Given the description of an element on the screen output the (x, y) to click on. 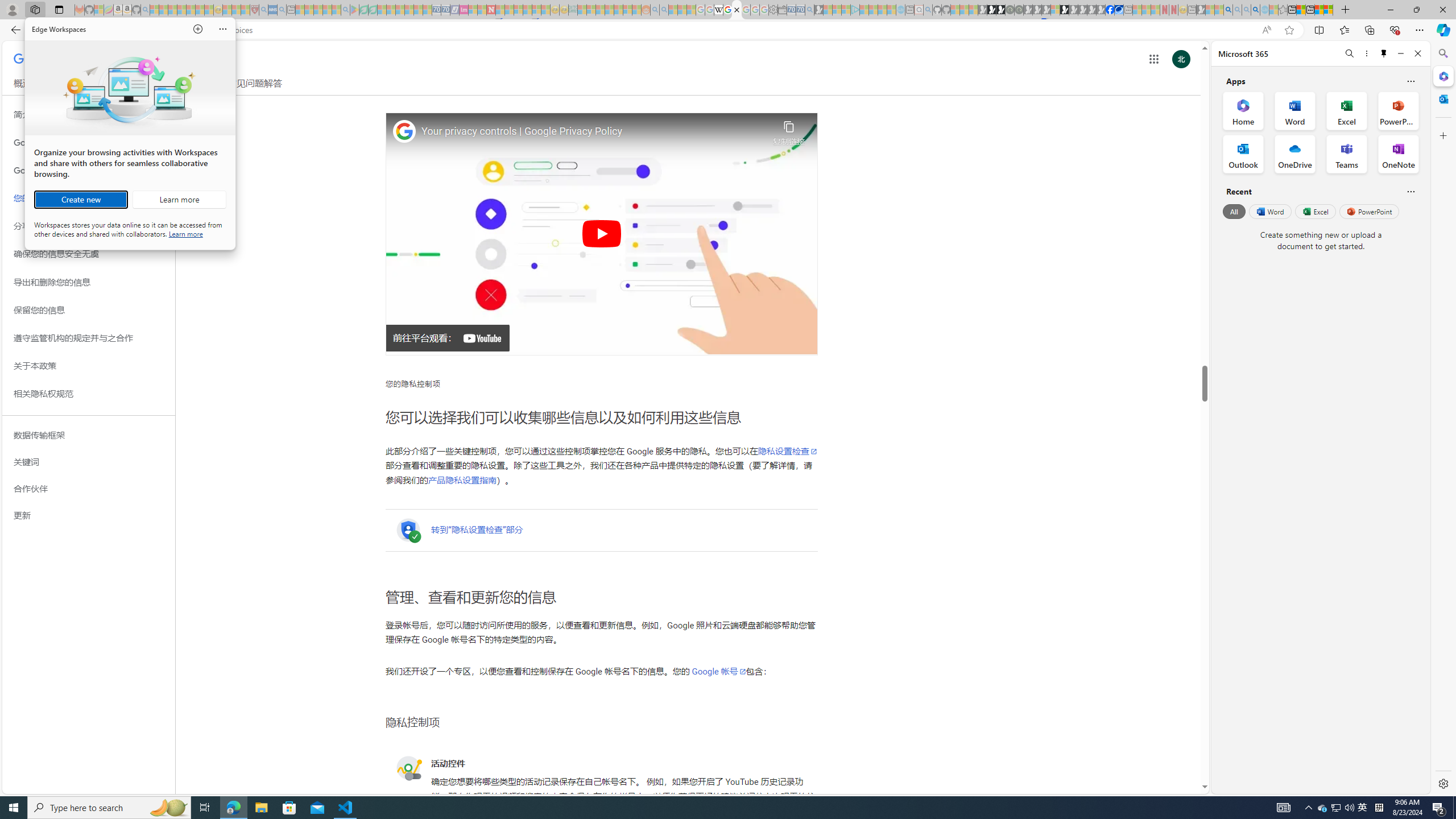
Excel (1315, 210)
OneNote Office App (1398, 154)
Target page - Wikipedia (718, 9)
Create new workspace (80, 199)
